Given the description of an element on the screen output the (x, y) to click on. 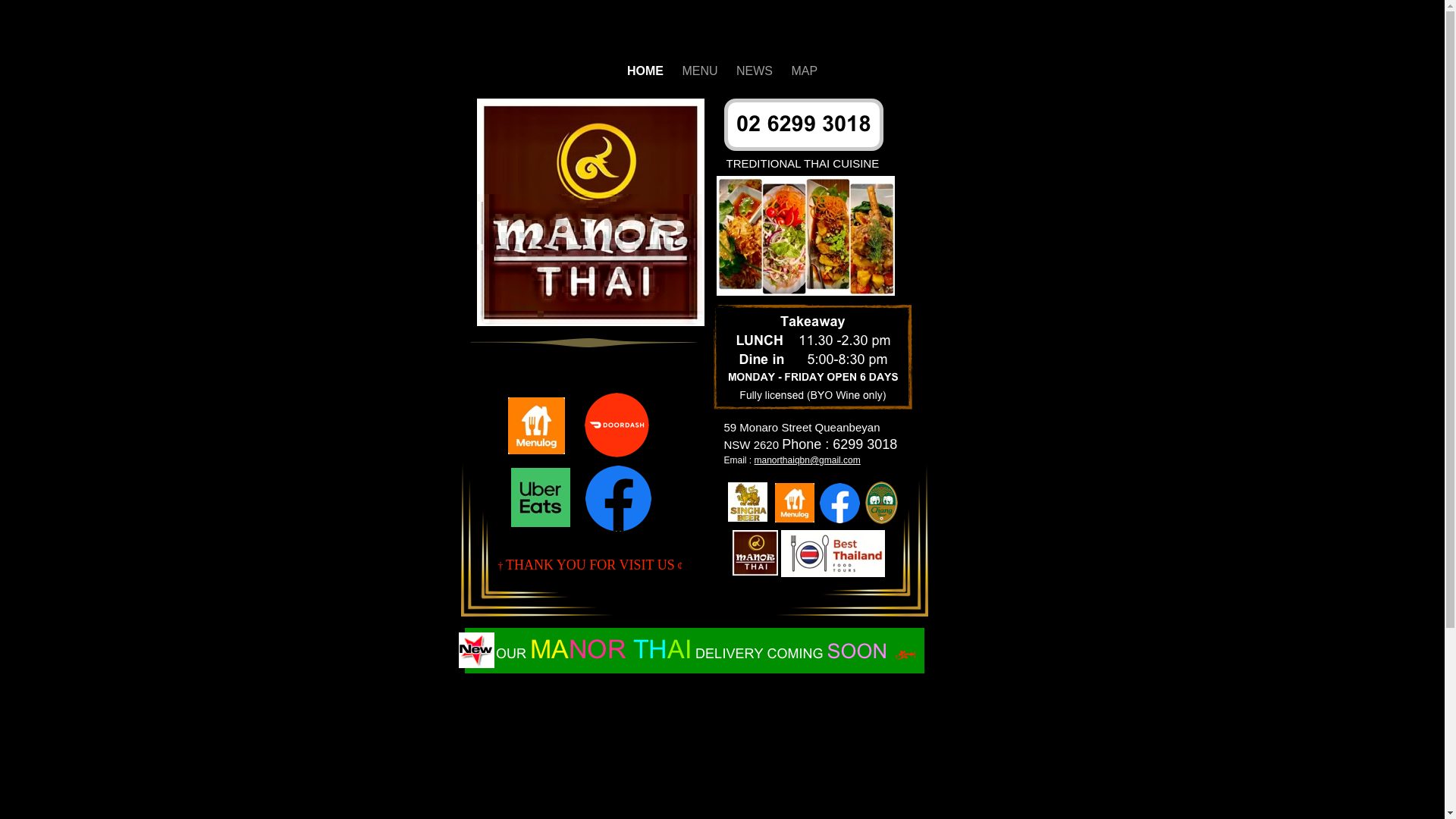
HOME Element type: text (646, 70)
MENU Element type: text (701, 70)
NEWS Element type: text (755, 70)
MAP Element type: text (803, 70)
manorthaiqbn@gmail.com Element type: text (807, 460)
https://www.facebook.com/Manorthairestaurant/ Element type: hover (618, 530)
